Given the description of an element on the screen output the (x, y) to click on. 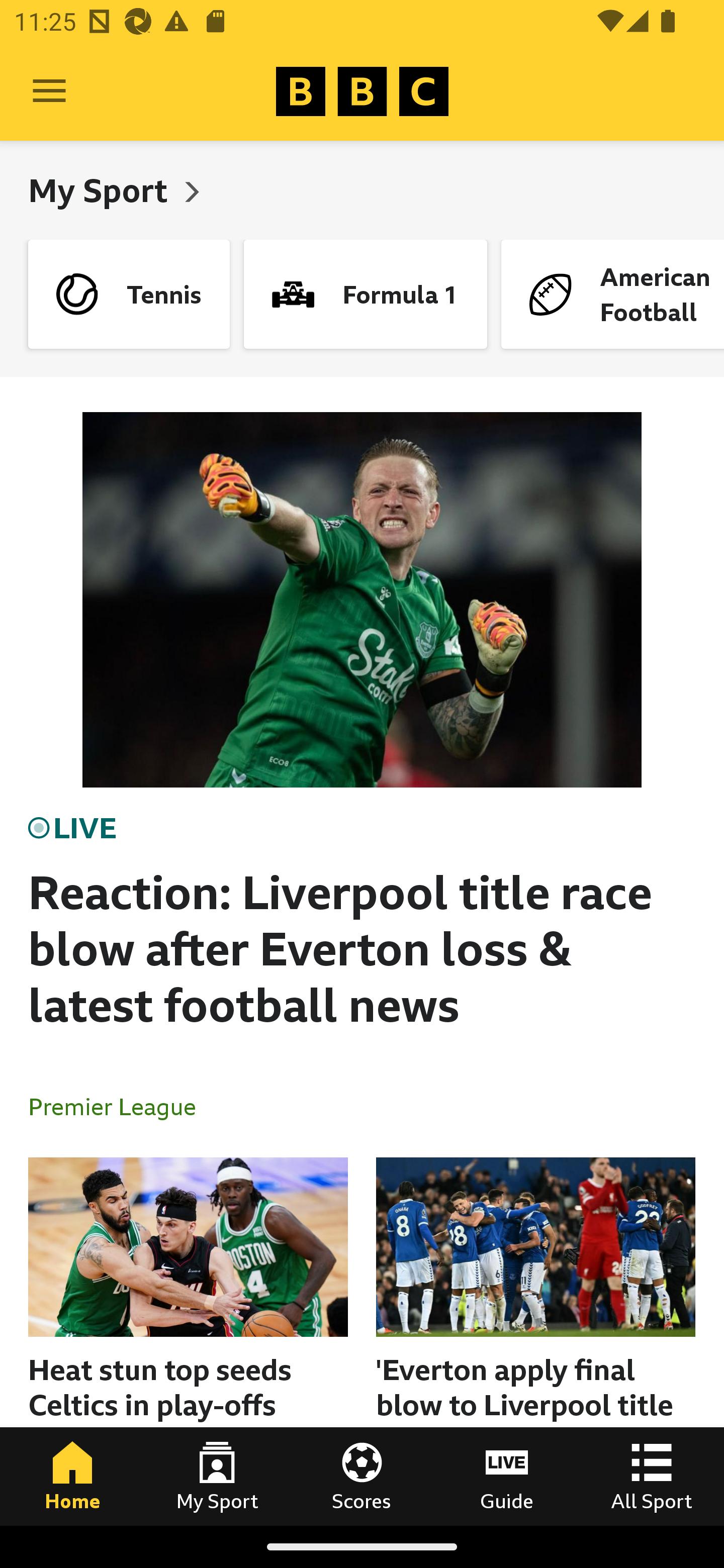
Open Menu (49, 91)
My Sport (101, 190)
Premier League In the section Premier League (119, 1106)
My Sport (216, 1475)
Scores (361, 1475)
Guide (506, 1475)
All Sport (651, 1475)
